Given the description of an element on the screen output the (x, y) to click on. 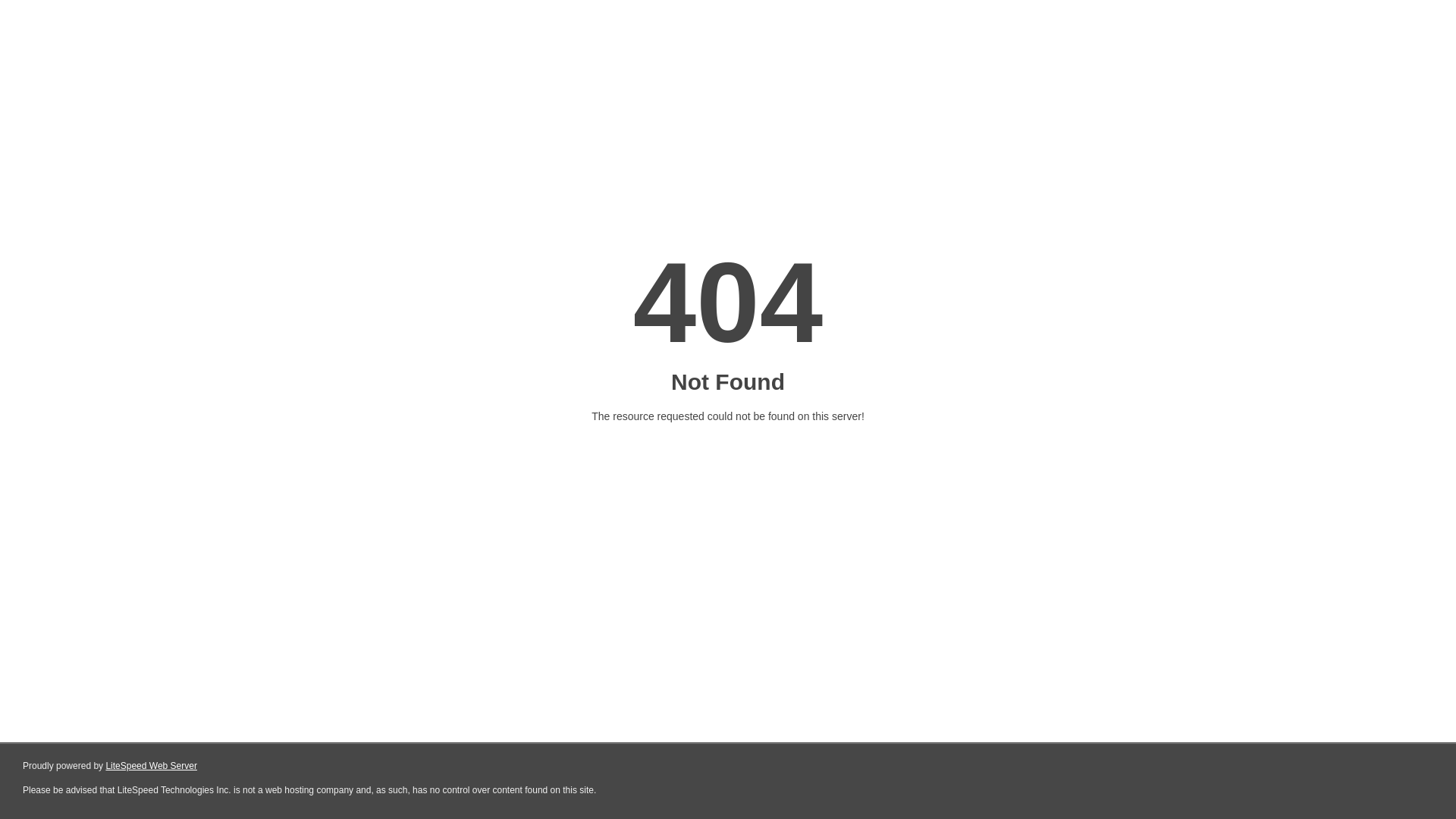
LiteSpeed Web Server Element type: text (151, 765)
